Given the description of an element on the screen output the (x, y) to click on. 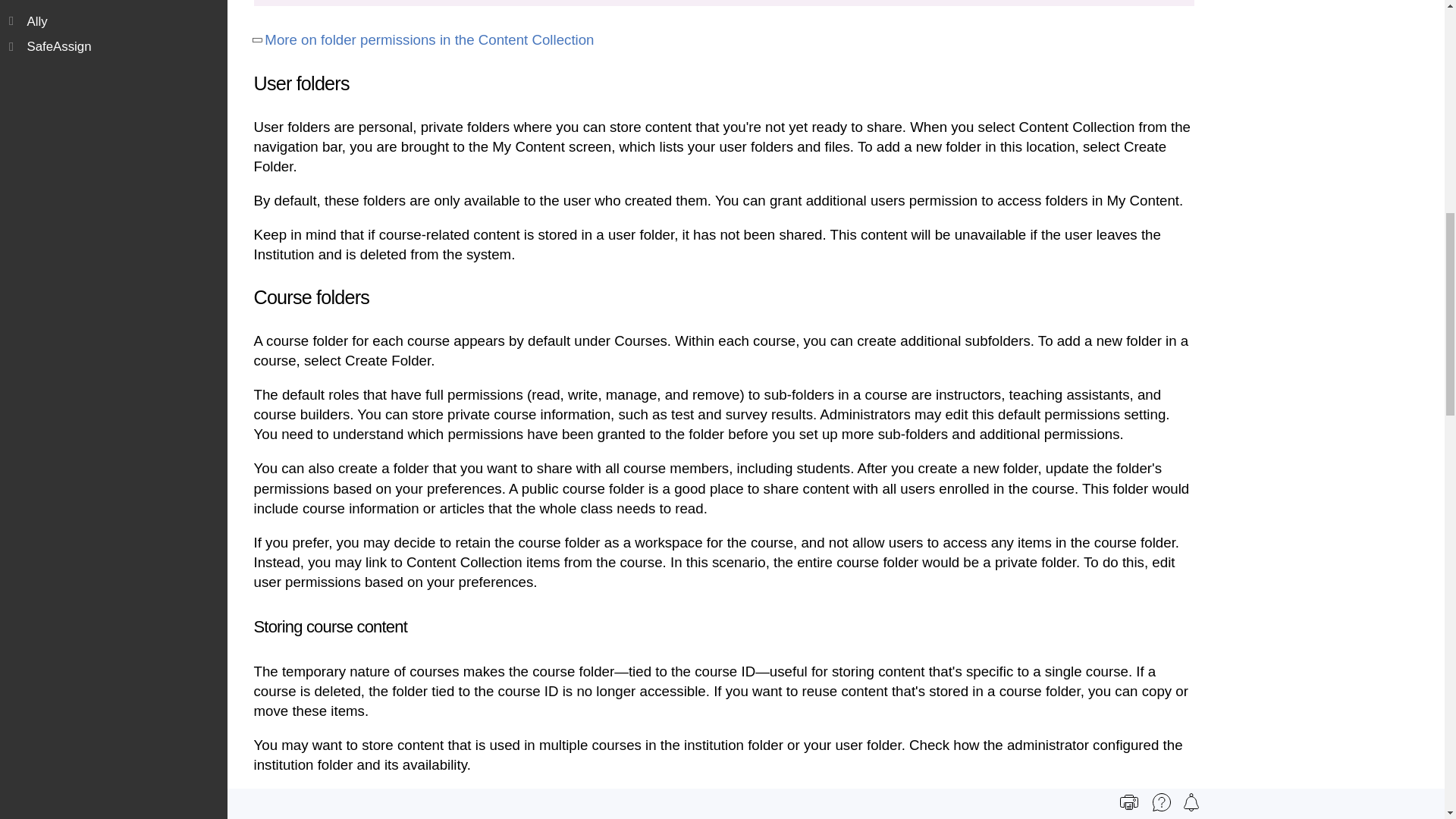
More on folder permissions in the Content Collection (429, 39)
